Given the description of an element on the screen output the (x, y) to click on. 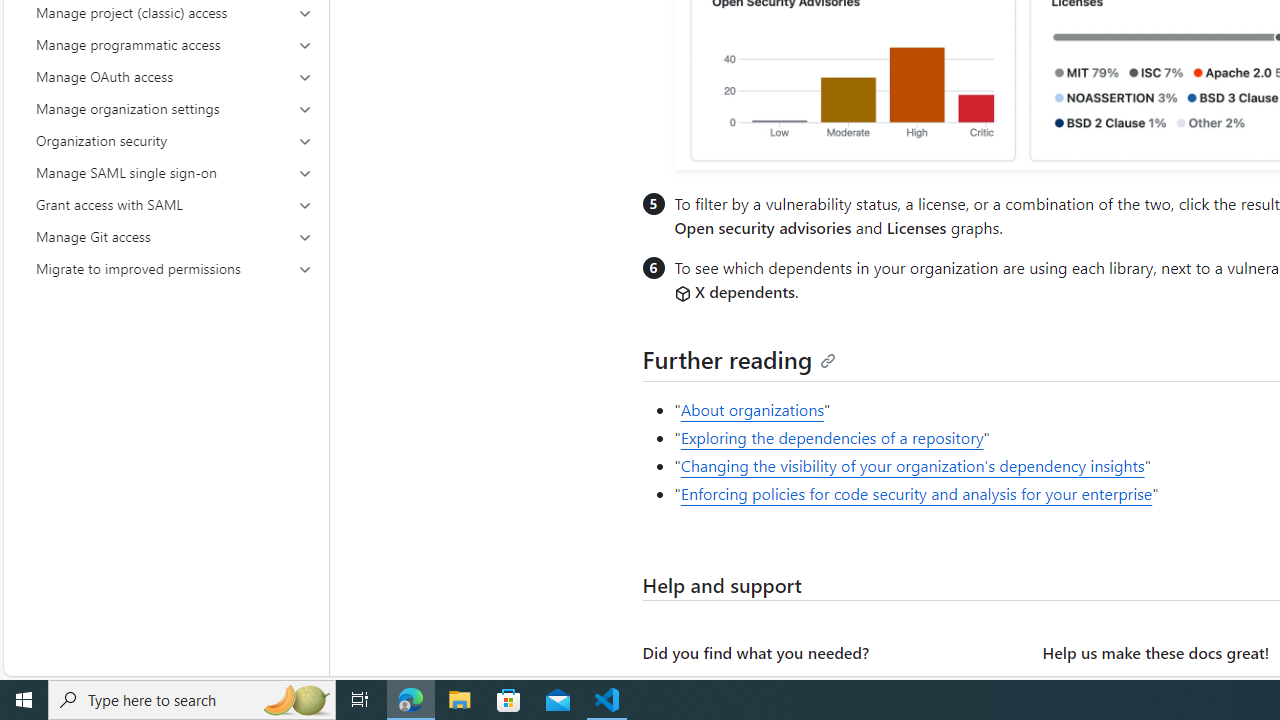
Migrate to improved permissions (174, 268)
Grant access with SAML (174, 204)
Manage programmatic access (174, 44)
About organizations (752, 409)
Organization security (174, 140)
